Given the description of an element on the screen output the (x, y) to click on. 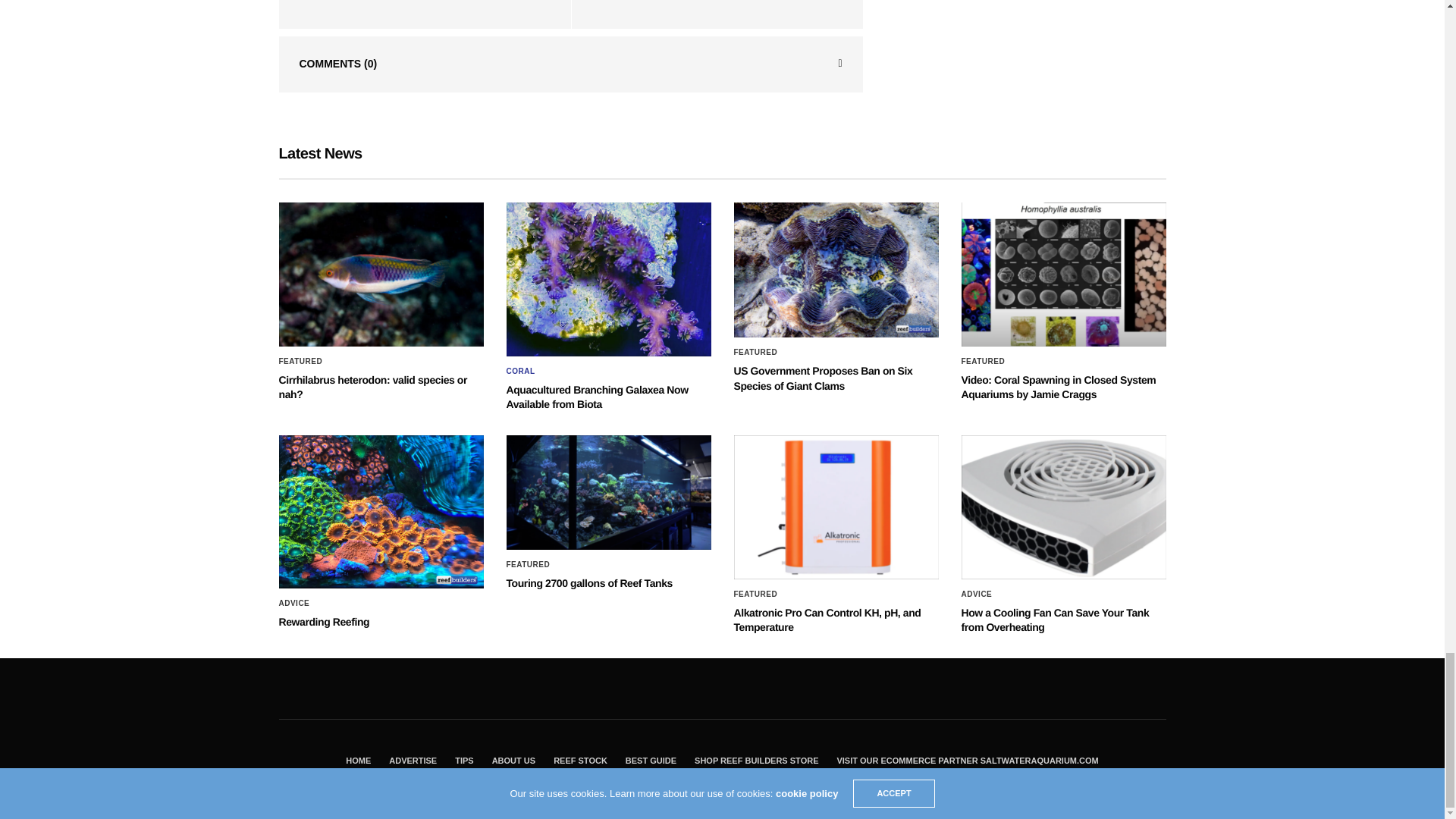
Cirrhilabrus heterodon: valid species or nah? (381, 274)
Cirrhilabrus heterodon: valid species or nah? (373, 387)
Featured (301, 361)
